Given the description of an element on the screen output the (x, y) to click on. 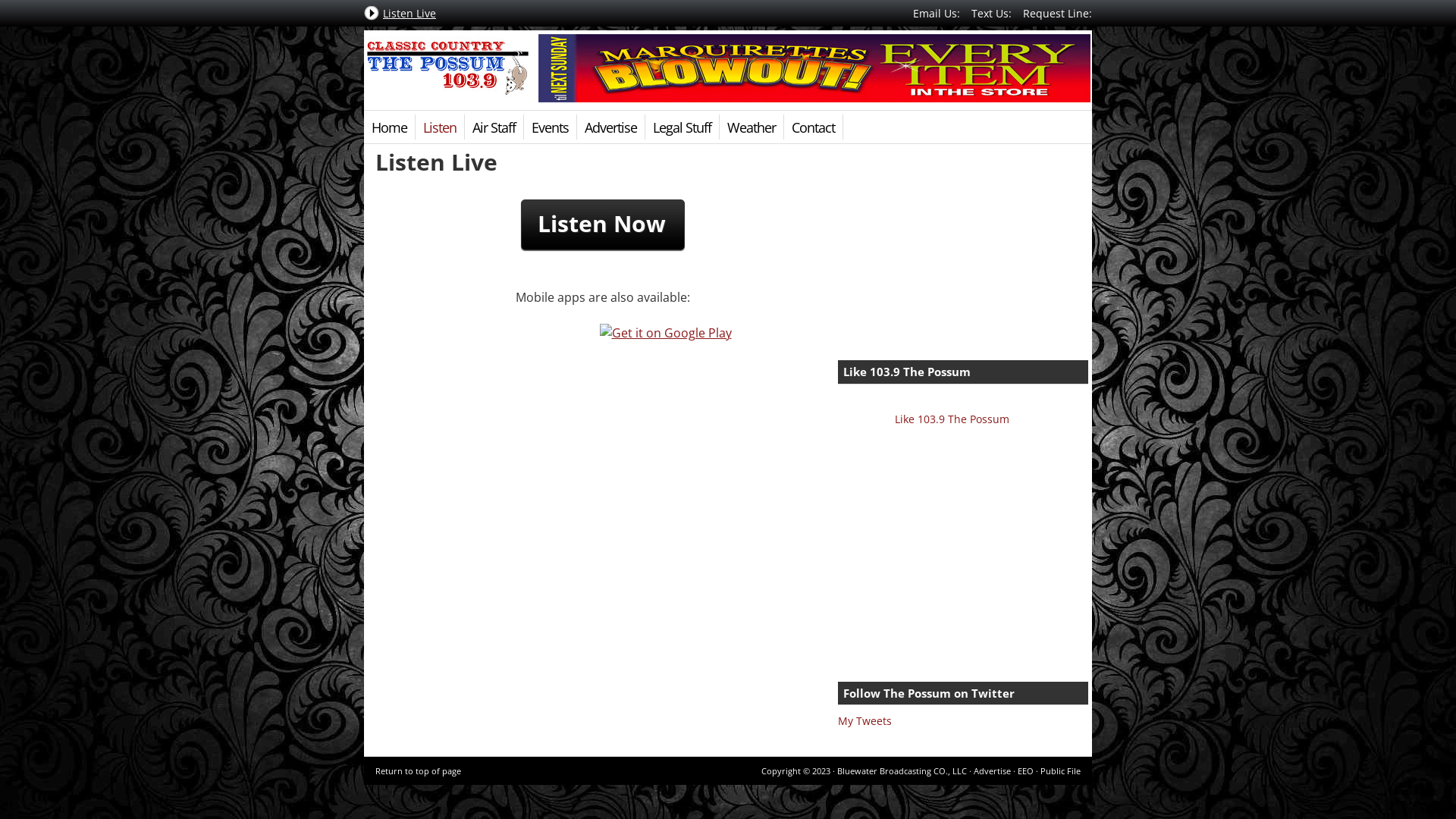
103.9 THE POSSUM - WQKS-HD4 Element type: text (447, 68)
My Tweets Element type: text (864, 720)
Contact Element type: text (813, 126)
Bluewater Broadcasting CO., LLC Element type: text (901, 770)
Weather Element type: text (751, 126)
Listen Element type: text (439, 126)
Public File Element type: text (1060, 770)
Return to top of page Element type: text (418, 770)
Advertise Element type: text (991, 770)
Air Staff Element type: text (494, 126)
Advertise Element type: text (611, 126)
EEO Element type: text (1025, 770)
Like 103.9 The Possum Element type: text (906, 371)
Like 103.9 The Possum Element type: text (951, 418)
3rd party ad content Element type: hover (814, 68)
Events Element type: text (550, 126)
Listen Now Element type: text (601, 222)
Listen Live Element type: text (409, 17)
Home Element type: text (389, 126)
Legal Stuff Element type: text (682, 126)
